Given the description of an element on the screen output the (x, y) to click on. 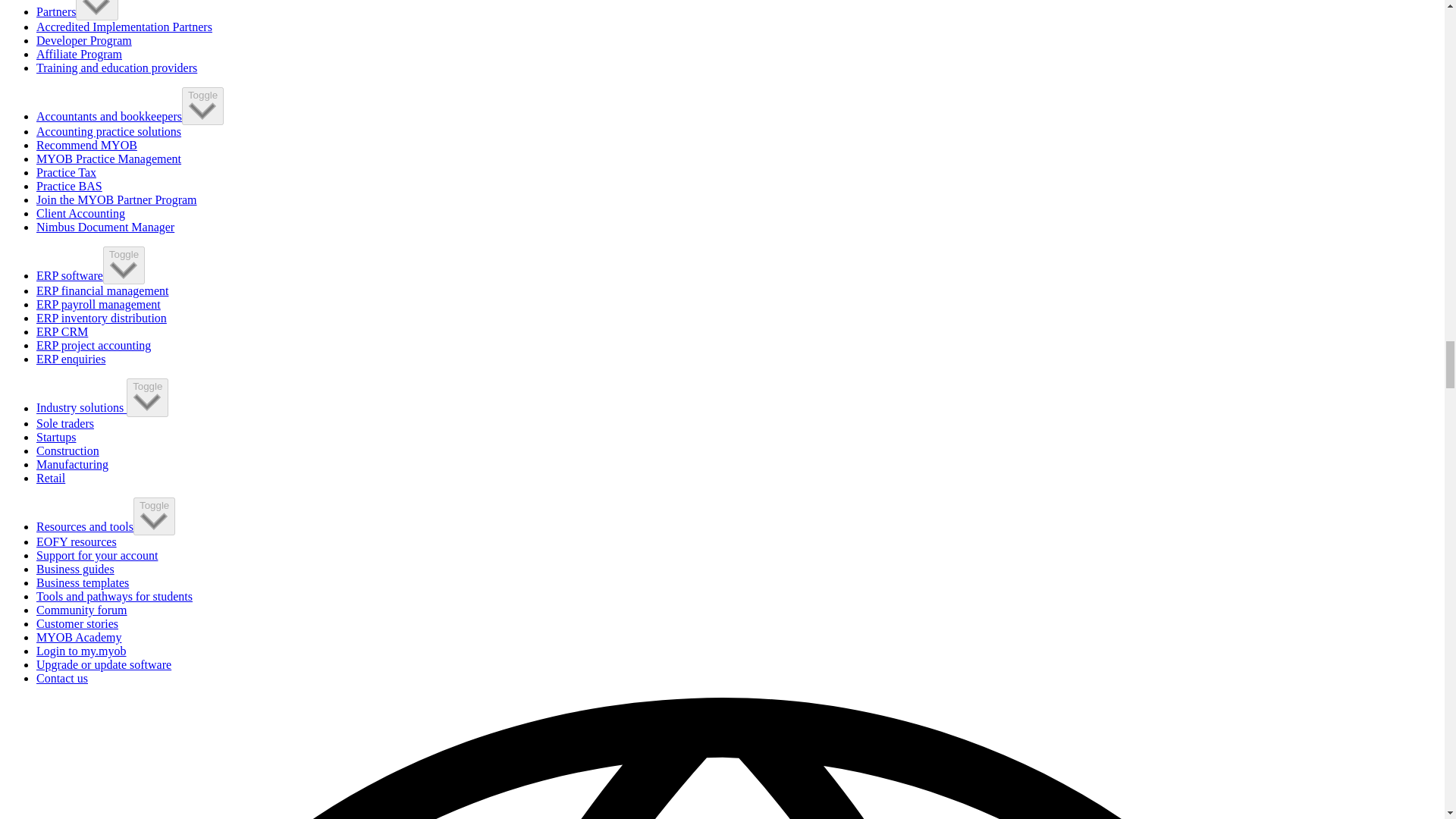
Chevron down (147, 401)
Chevron down (96, 8)
Chevron down (153, 520)
Chevron down (123, 270)
Chevron down (202, 110)
